Given the description of an element on the screen output the (x, y) to click on. 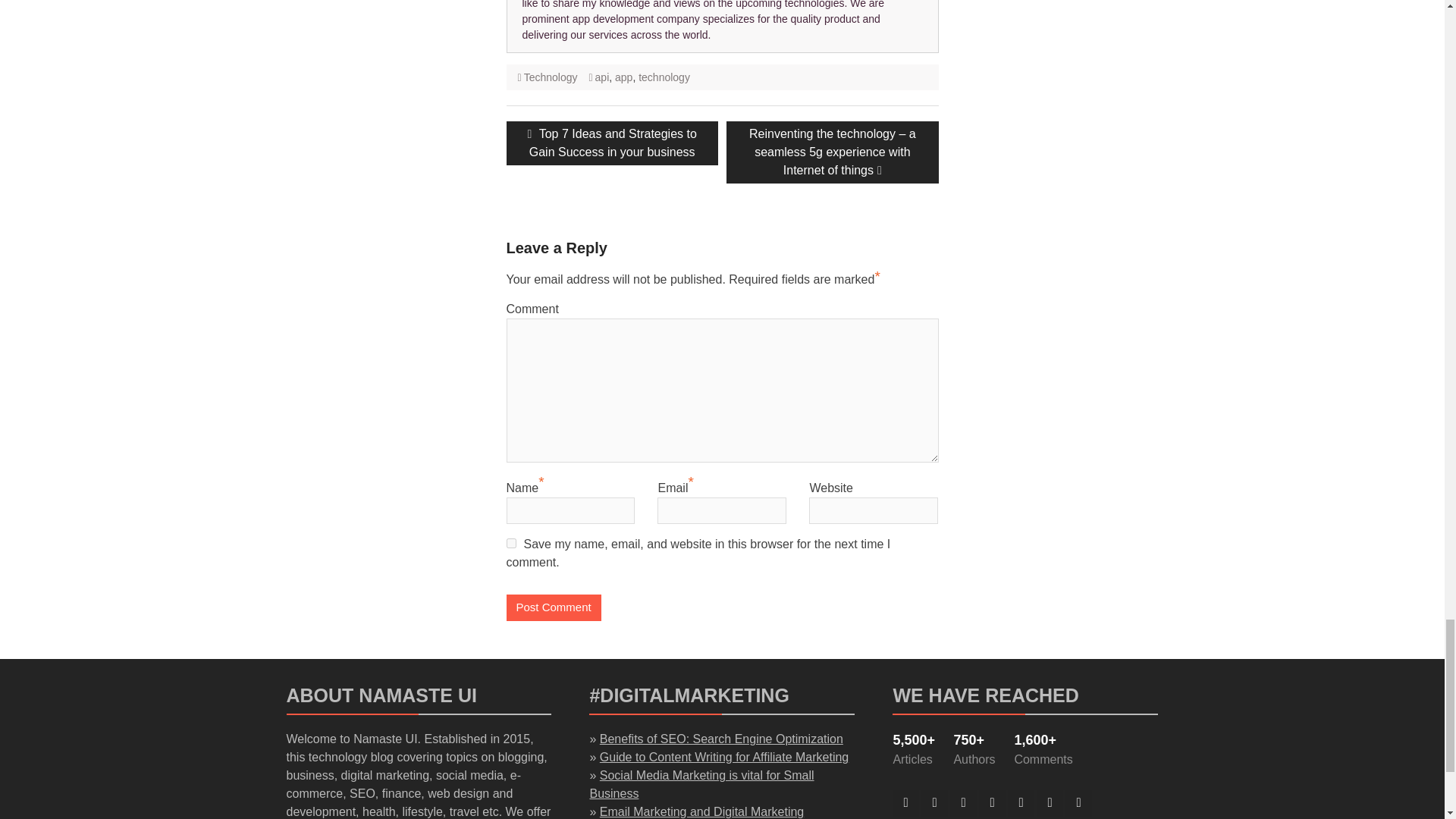
yes (511, 542)
Post Comment (553, 607)
Technology (551, 77)
